Given the description of an element on the screen output the (x, y) to click on. 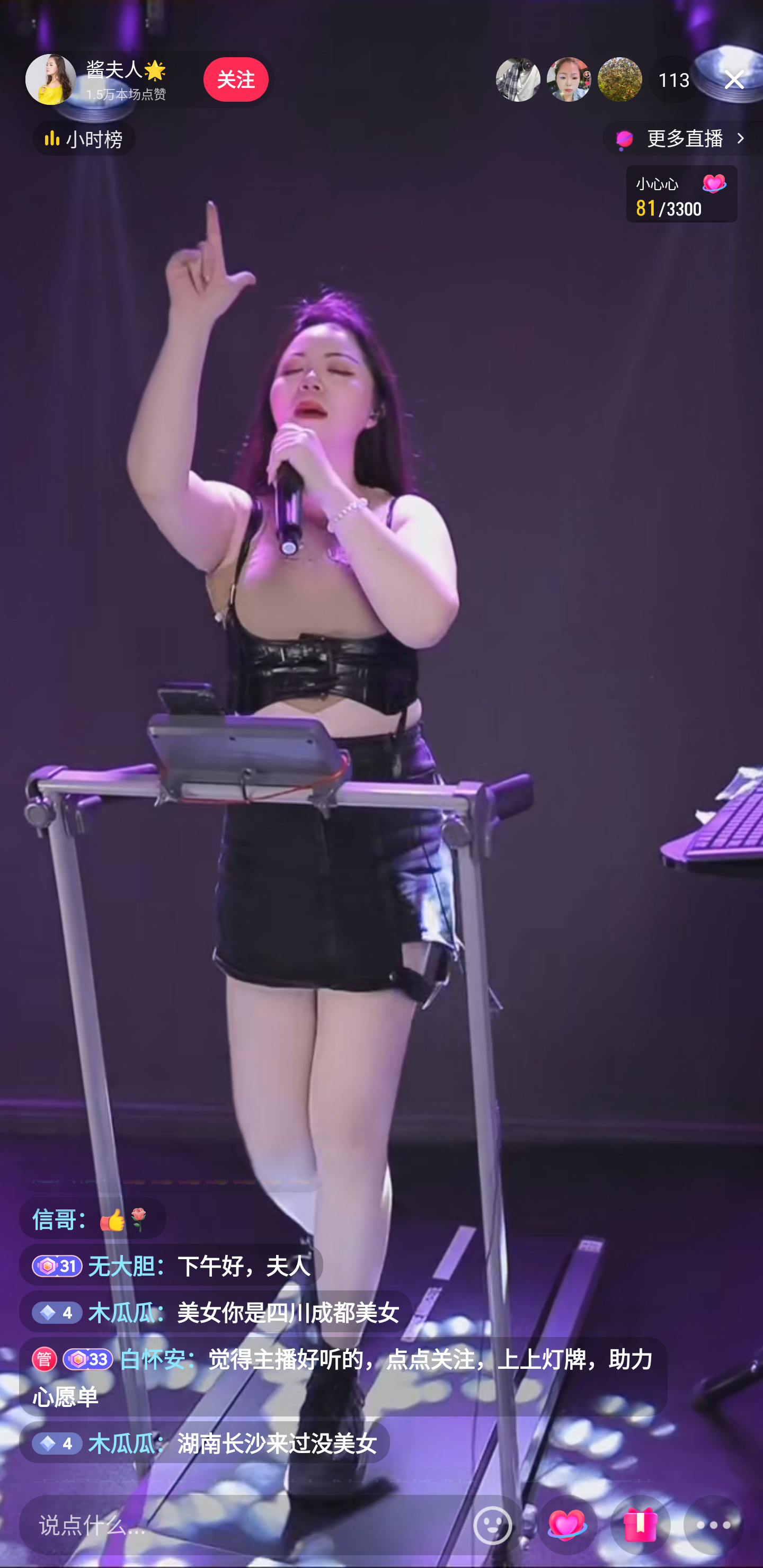
榜一 Adore (517, 78)
榜二 不念过往💦 (569, 78)
榜三 天吴 (619, 78)
主播酱夫人🌟 1.5万本场点赞  酱夫人🌟 1.5万本场点赞 关注 (148, 79)
113 113在线观众 (673, 78)
关注 (235, 78)
关闭 (733, 78)
小时榜，按钮 (83, 137)
更多直播 (682, 137)
心愿单 SaaS任务Banner (681, 193)
说点什么... (241, 1524)
表情入口 (492, 1524)
小心心 (567, 1526)
礼物 (640, 1526)
更多面板 按钮 (713, 1526)
